Given the description of an element on the screen output the (x, y) to click on. 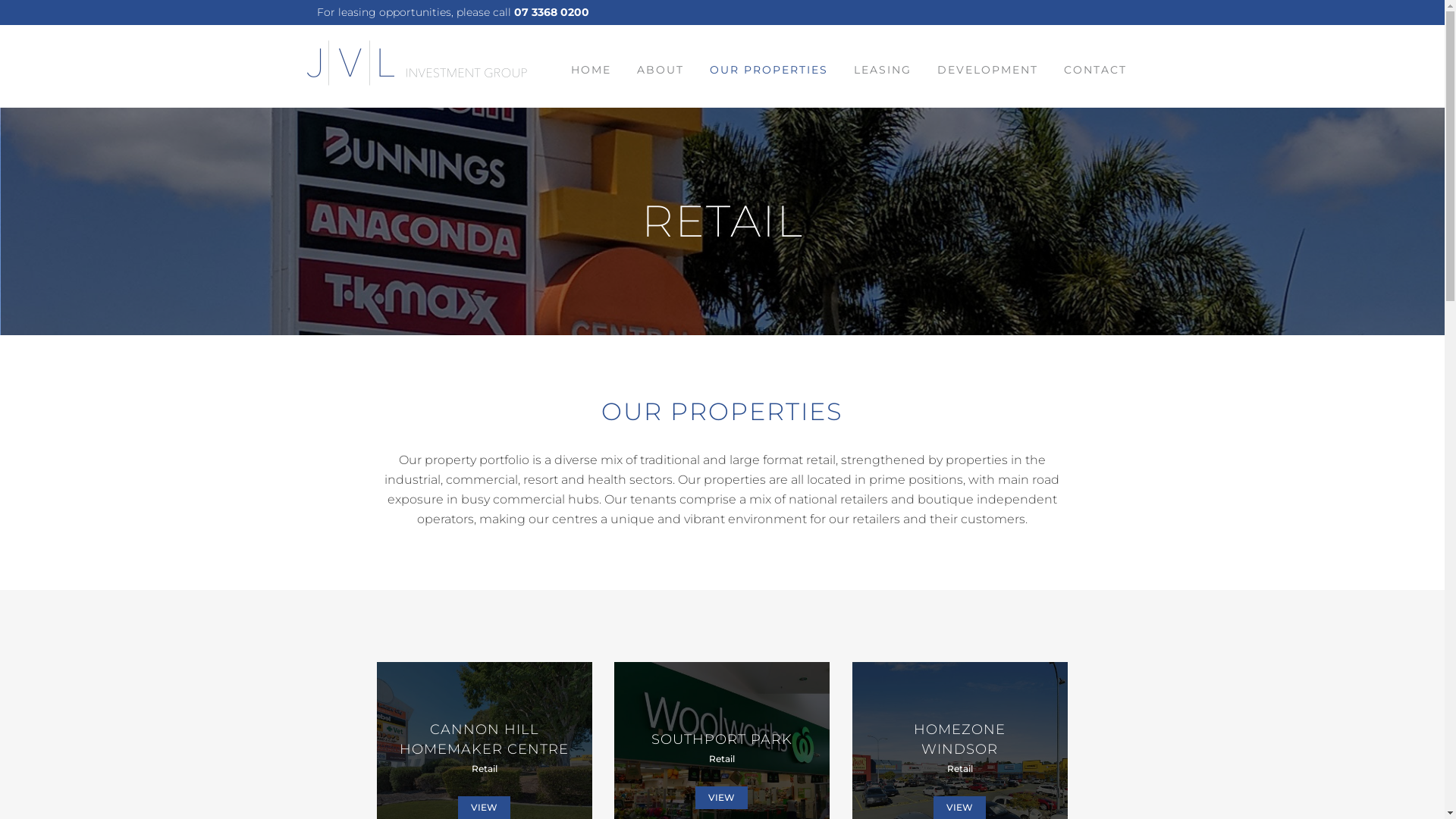
SOUTHPORT PARK Element type: text (721, 739)
LEASING Element type: text (881, 69)
VIEW Element type: text (721, 797)
HOMEZONE WINDSOR Element type: text (959, 739)
07 3368 0200 Element type: text (551, 11)
OUR PROPERTIES Element type: text (768, 69)
ABOUT Element type: text (659, 69)
CANNON HILL HOMEMAKER CENTRE Element type: text (483, 739)
HOME Element type: text (591, 69)
DEVELOPMENT Element type: text (986, 69)
CONTACT Element type: text (1095, 69)
